Given the description of an element on the screen output the (x, y) to click on. 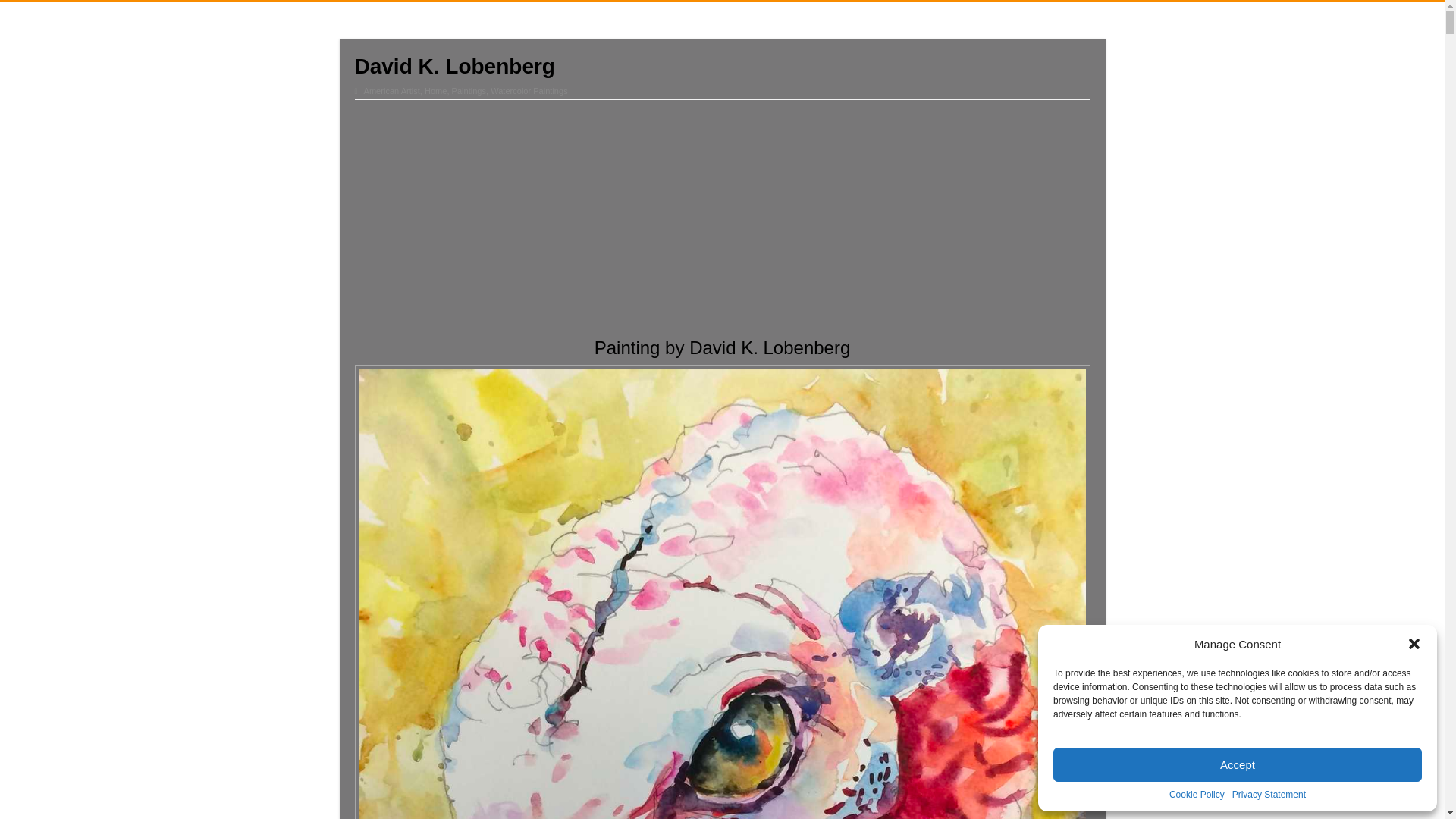
Home (435, 90)
Cookie Policy (1196, 794)
American Artist (392, 90)
Privacy Statement (1268, 794)
Paintings (468, 90)
Accept (1237, 764)
Watercolor Paintings (528, 90)
